Given the description of an element on the screen output the (x, y) to click on. 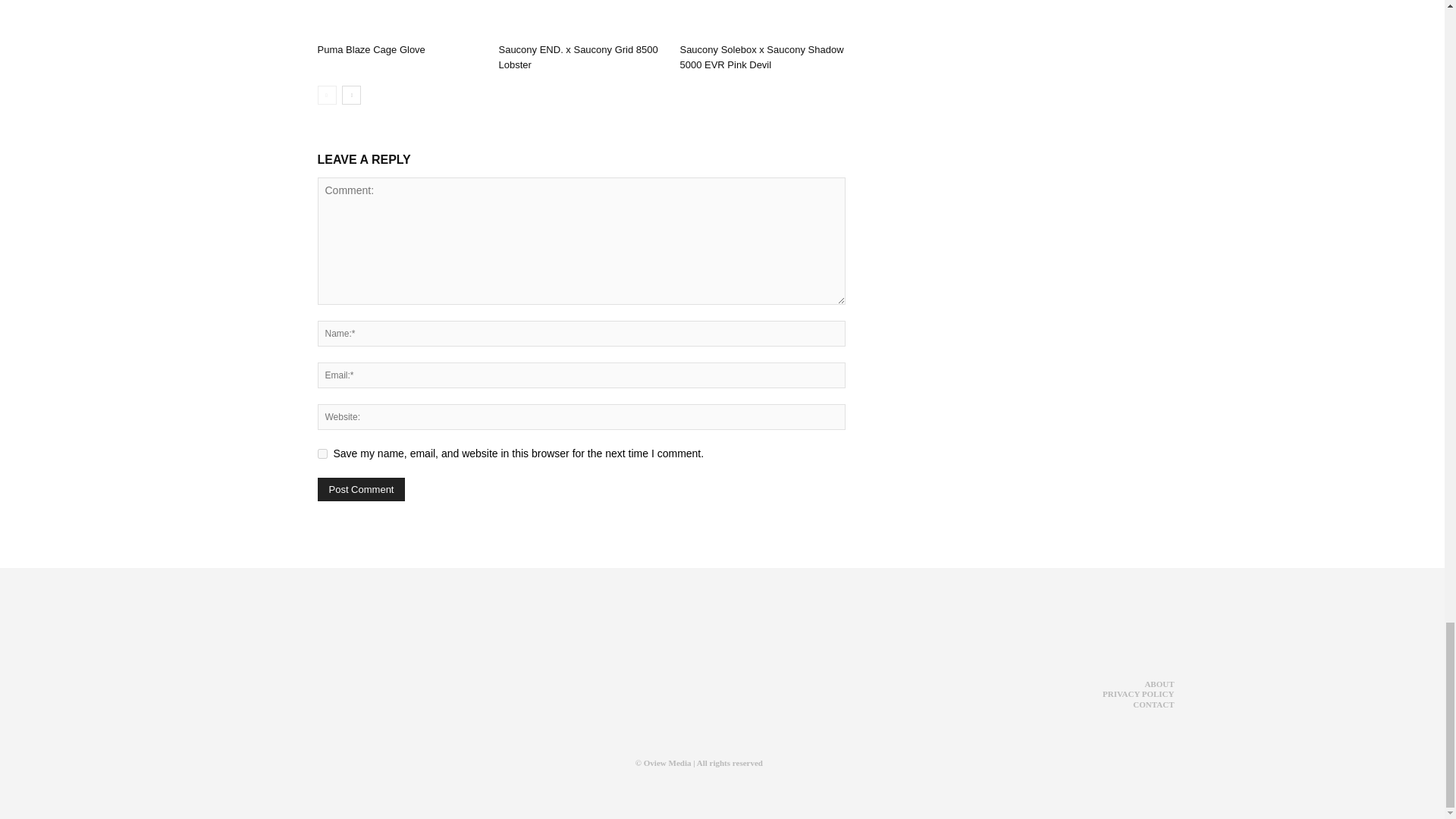
yes (321, 453)
Post Comment (360, 489)
